Given the description of an element on the screen output the (x, y) to click on. 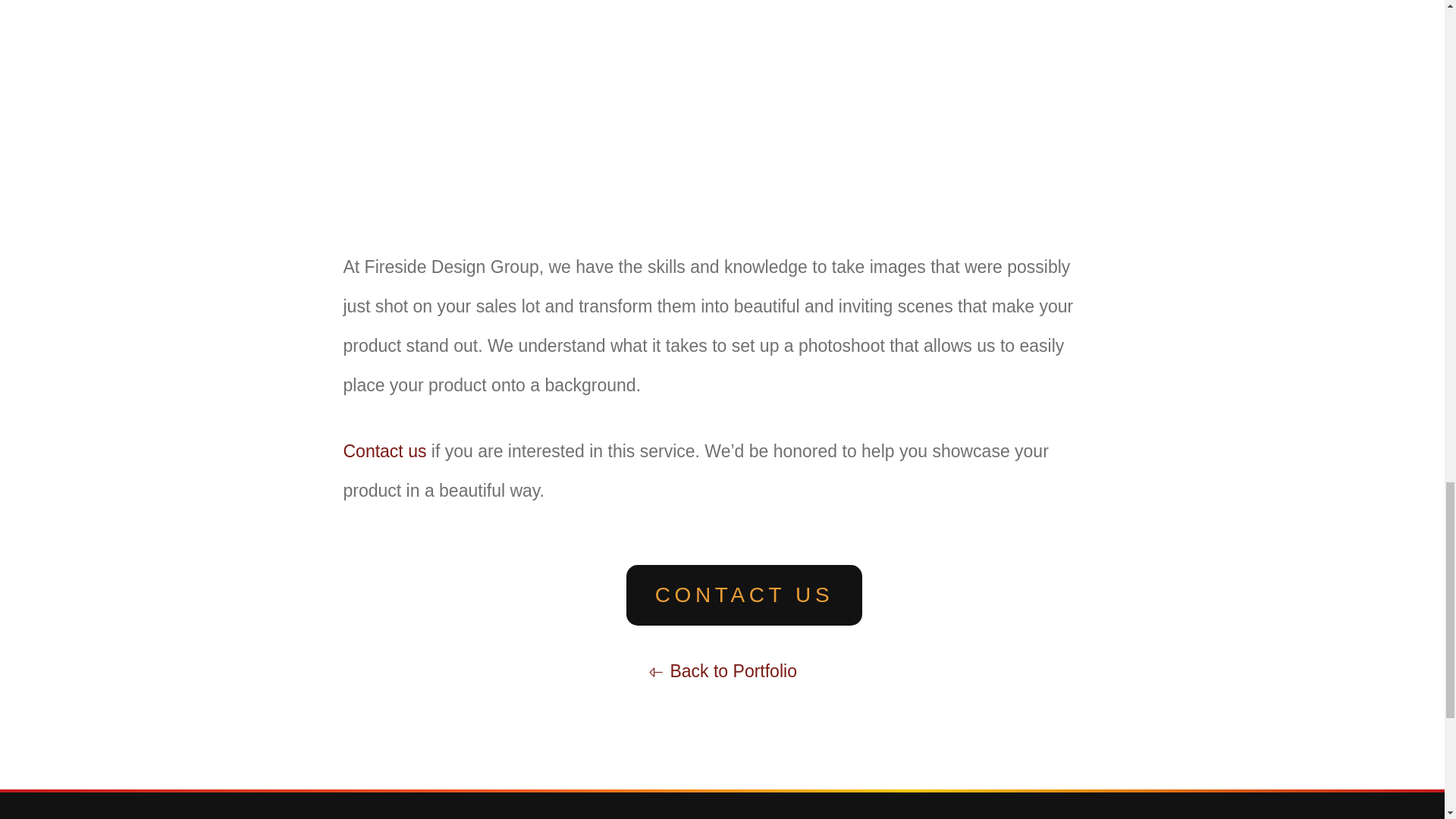
CONTACT US (743, 595)
Contact us (384, 451)
